Given the description of an element on the screen output the (x, y) to click on. 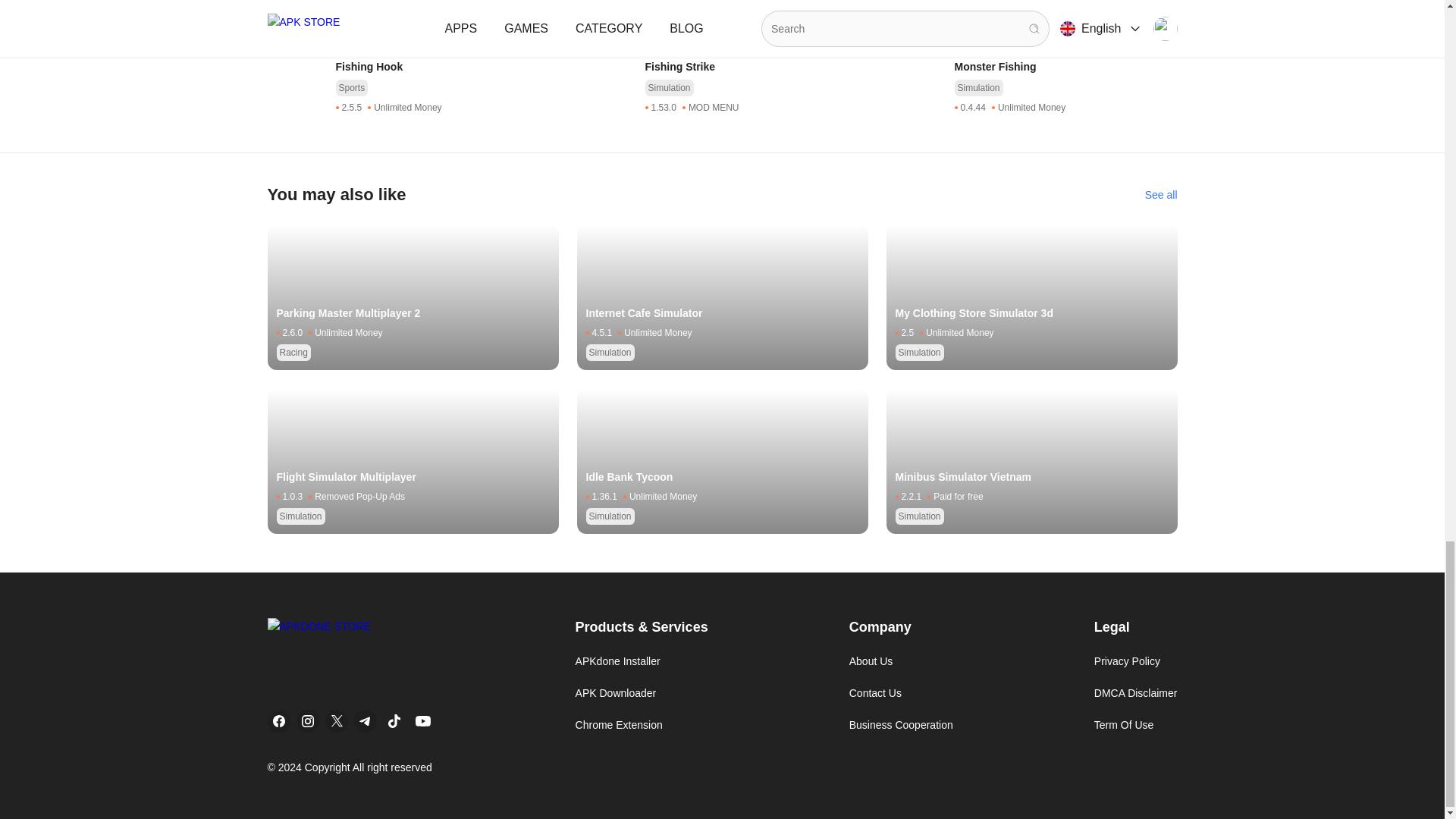
Simulation (359, 13)
